Given the description of an element on the screen output the (x, y) to click on. 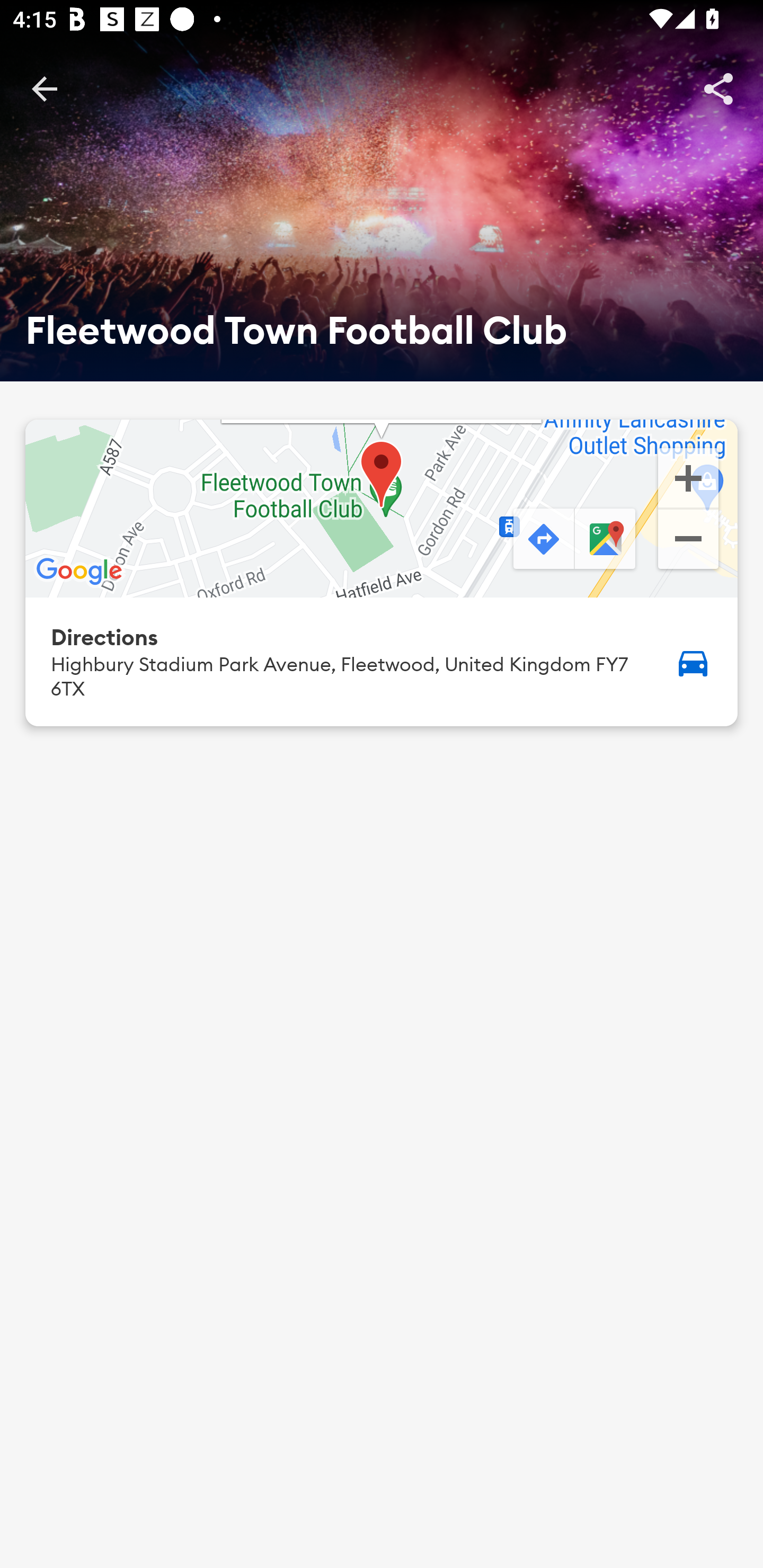
BackButton (44, 88)
Share (718, 88)
Zoom in (687, 476)
Get directions (541, 539)
Open in Google Maps (606, 539)
Zoom out (687, 540)
